Given the description of an element on the screen output the (x, y) to click on. 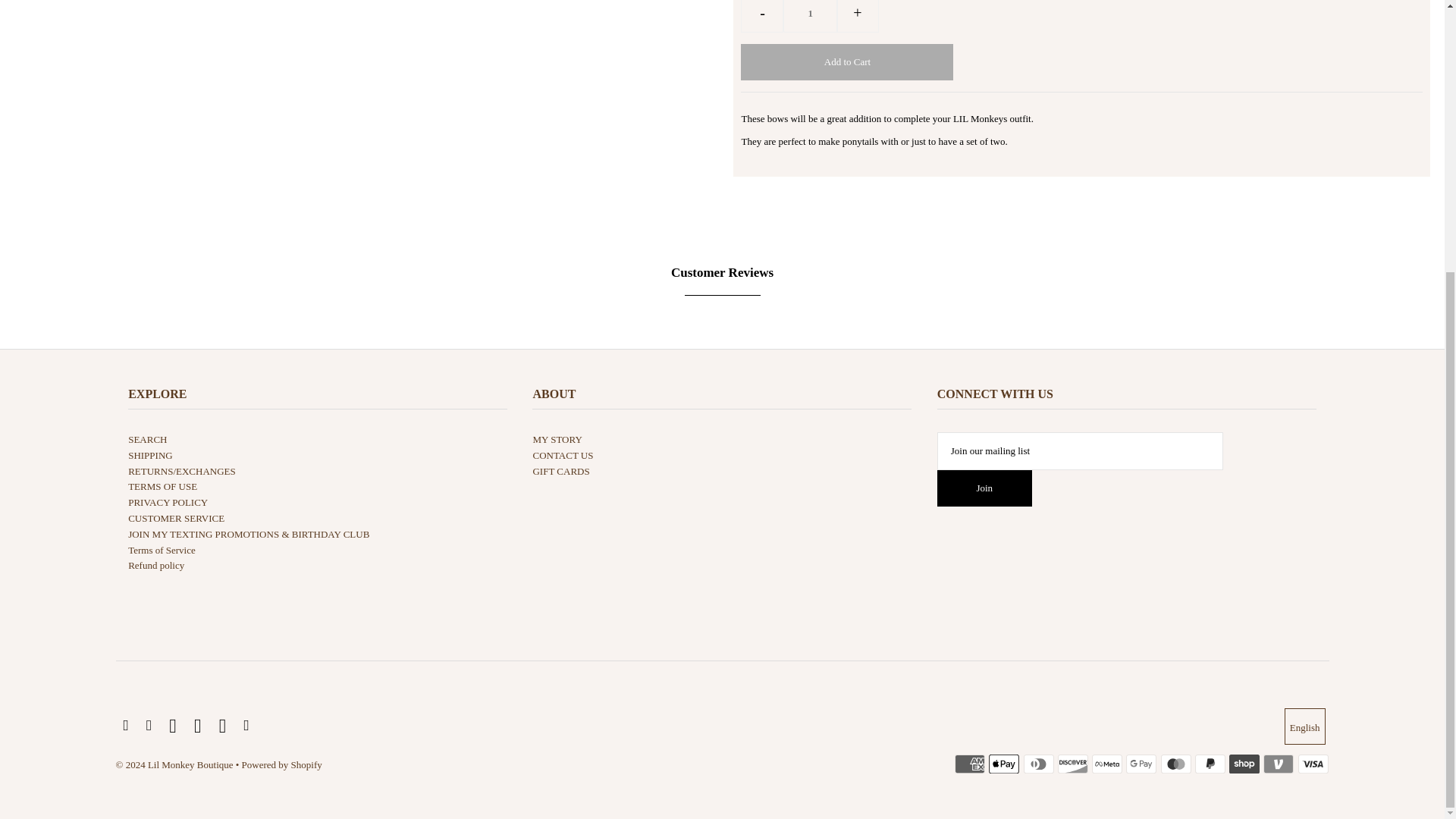
Discover (1072, 763)
Google Pay (1140, 763)
Apple Pay (1003, 763)
1 (810, 16)
Add to Cart (847, 62)
Meta Pay (1107, 763)
Join (984, 488)
Diners Club (1038, 763)
Visa (1312, 763)
American Express (970, 763)
